Given the description of an element on the screen output the (x, y) to click on. 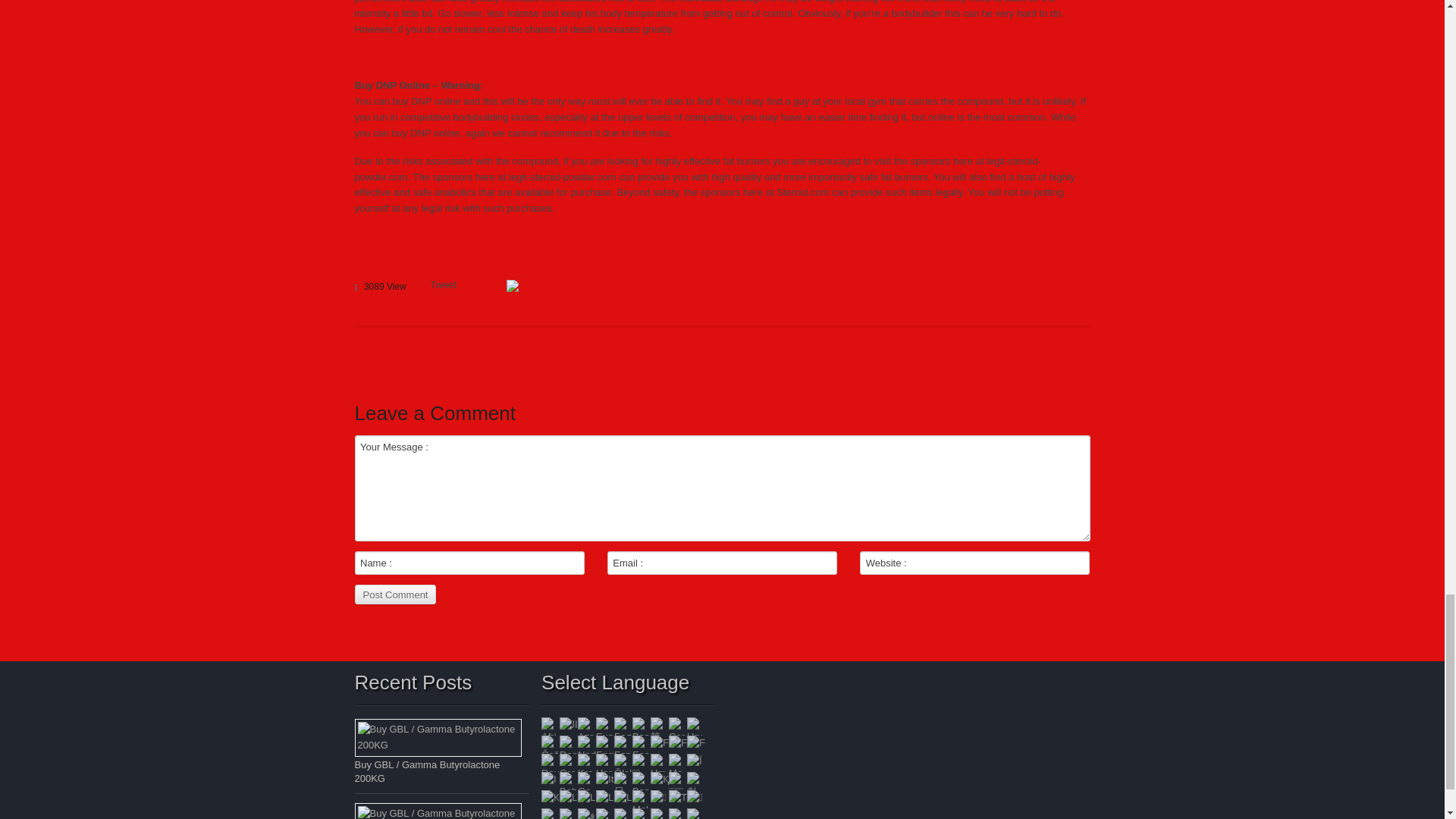
Name : (470, 562)
Website : (974, 562)
Euskara (604, 726)
Your Message : (722, 487)
Email : (722, 562)
Post Comment (395, 594)
Website : (974, 562)
Afrikaans (550, 726)
Email : (722, 562)
Name : (470, 562)
